Given the description of an element on the screen output the (x, y) to click on. 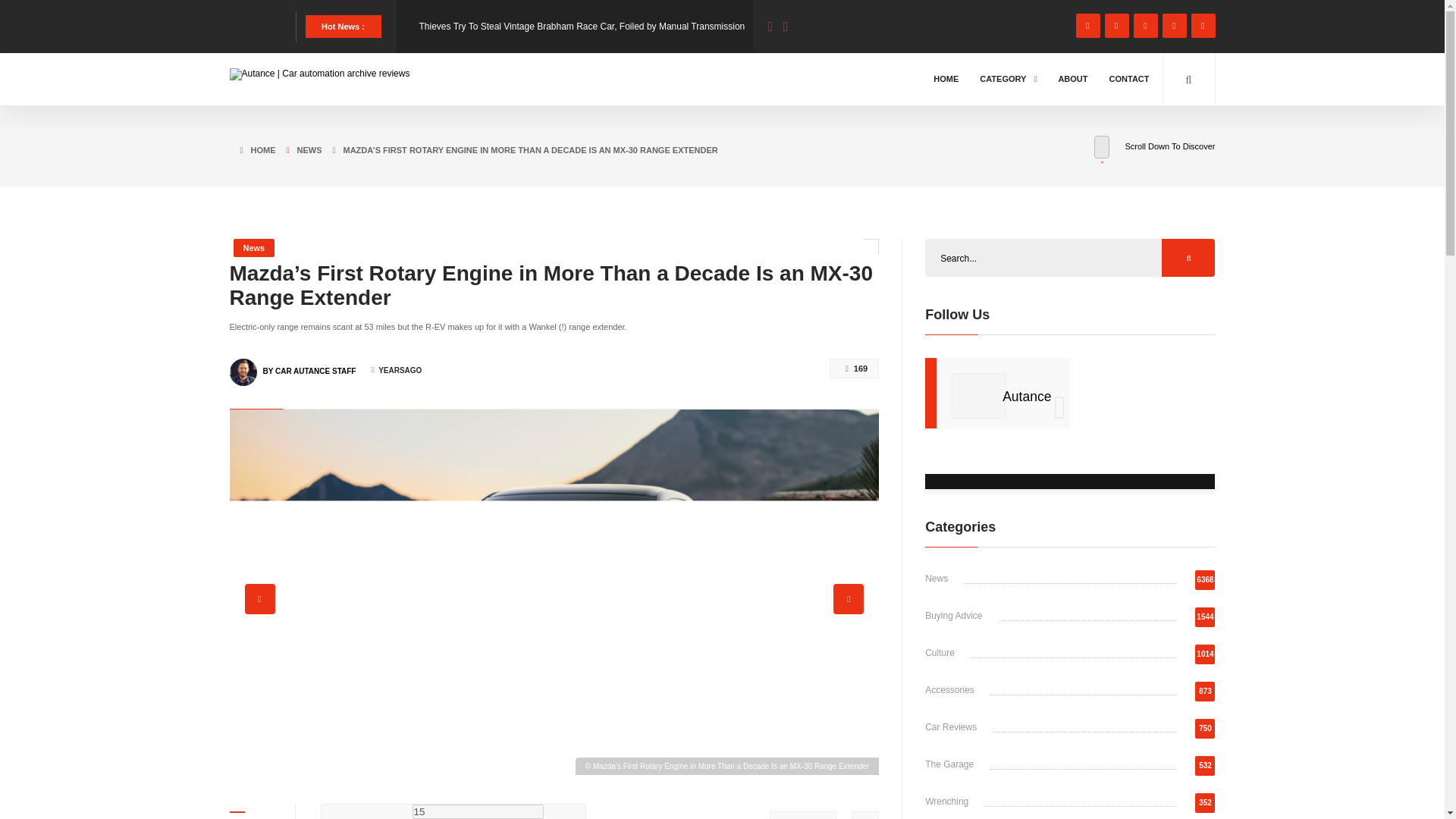
Scroll Down To Discover (1154, 146)
NEWS (298, 147)
BY CAR AUTANCE STAFF (308, 363)
ABOUT (1072, 79)
PRINT (802, 815)
News (253, 248)
HOME (251, 147)
CATEGORY (1008, 79)
HOME (945, 79)
CONTACT (1128, 79)
15 (477, 811)
